Given the description of an element on the screen output the (x, y) to click on. 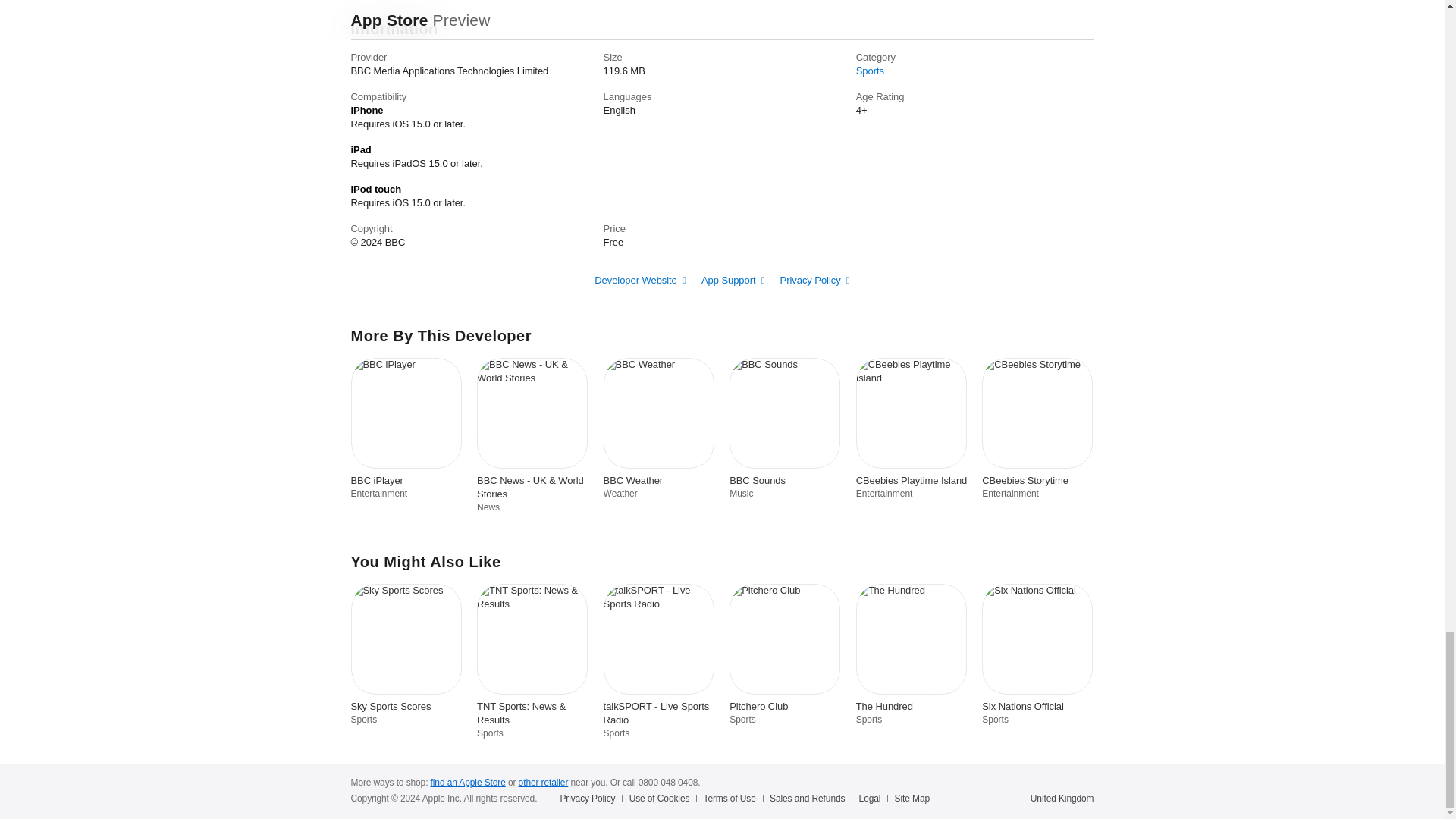
Privacy Policy (815, 279)
App Support (733, 279)
Choose your country or region (1062, 798)
Sports (869, 70)
Developer Website (639, 279)
